Given the description of an element on the screen output the (x, y) to click on. 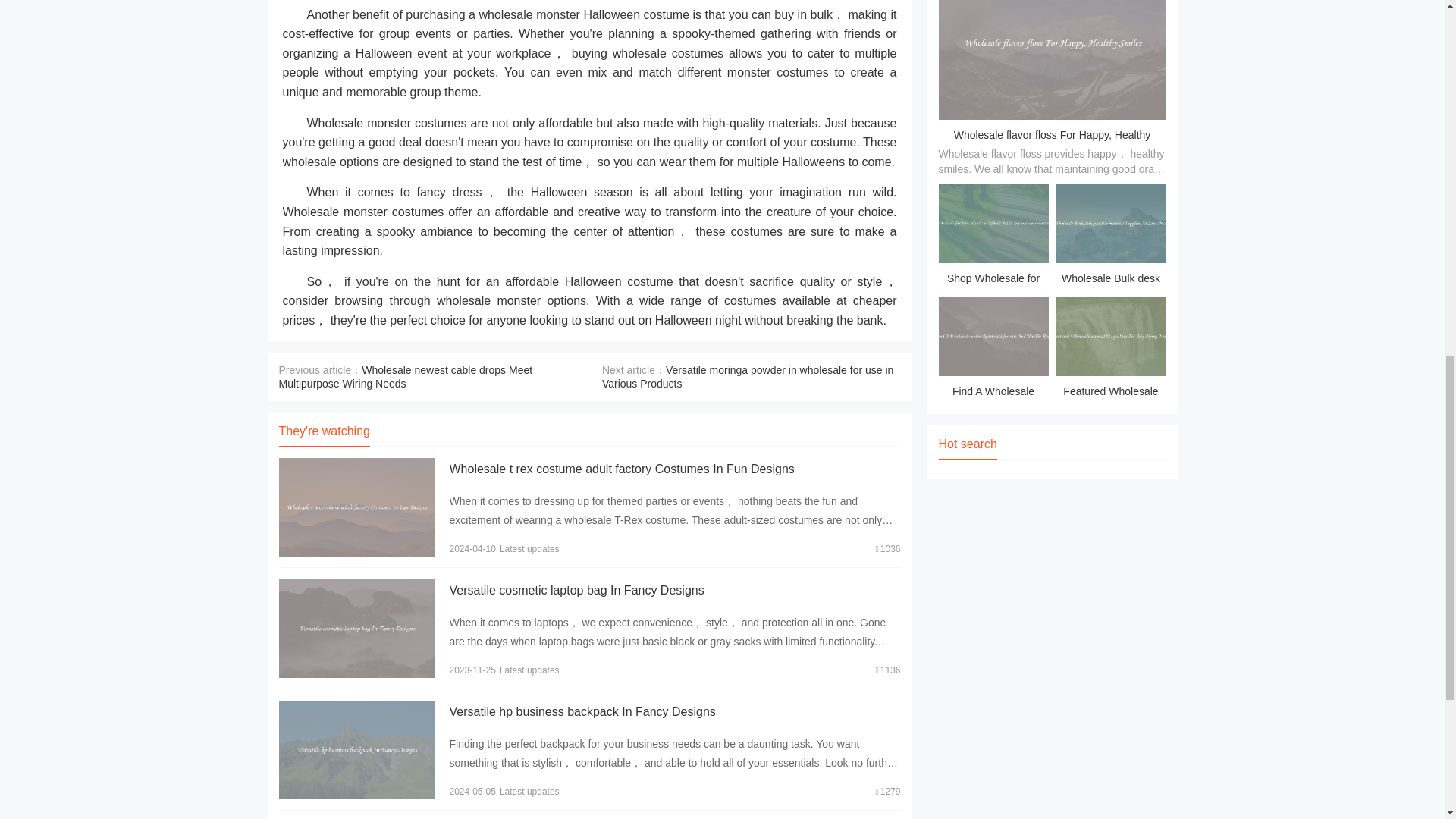
Versatile cosmetic laptop bag In Fancy Designs (575, 590)
Wholesale flavor floss For Happy, Healthy Smiles (1052, 145)
Featured Wholesale astm a182 equal tee For Any Piping Needs (1110, 349)
Find A Wholesale motor skateboard for sale And Hit The Road (993, 349)
Versatile hp business backpack In Fancy Designs (581, 711)
Wholesale Bulk desk plastics material Supplier At Low Prices (1110, 236)
Wholesale newest cable drops Meet Multipurpose Wiring Needs (405, 376)
